Given the description of an element on the screen output the (x, y) to click on. 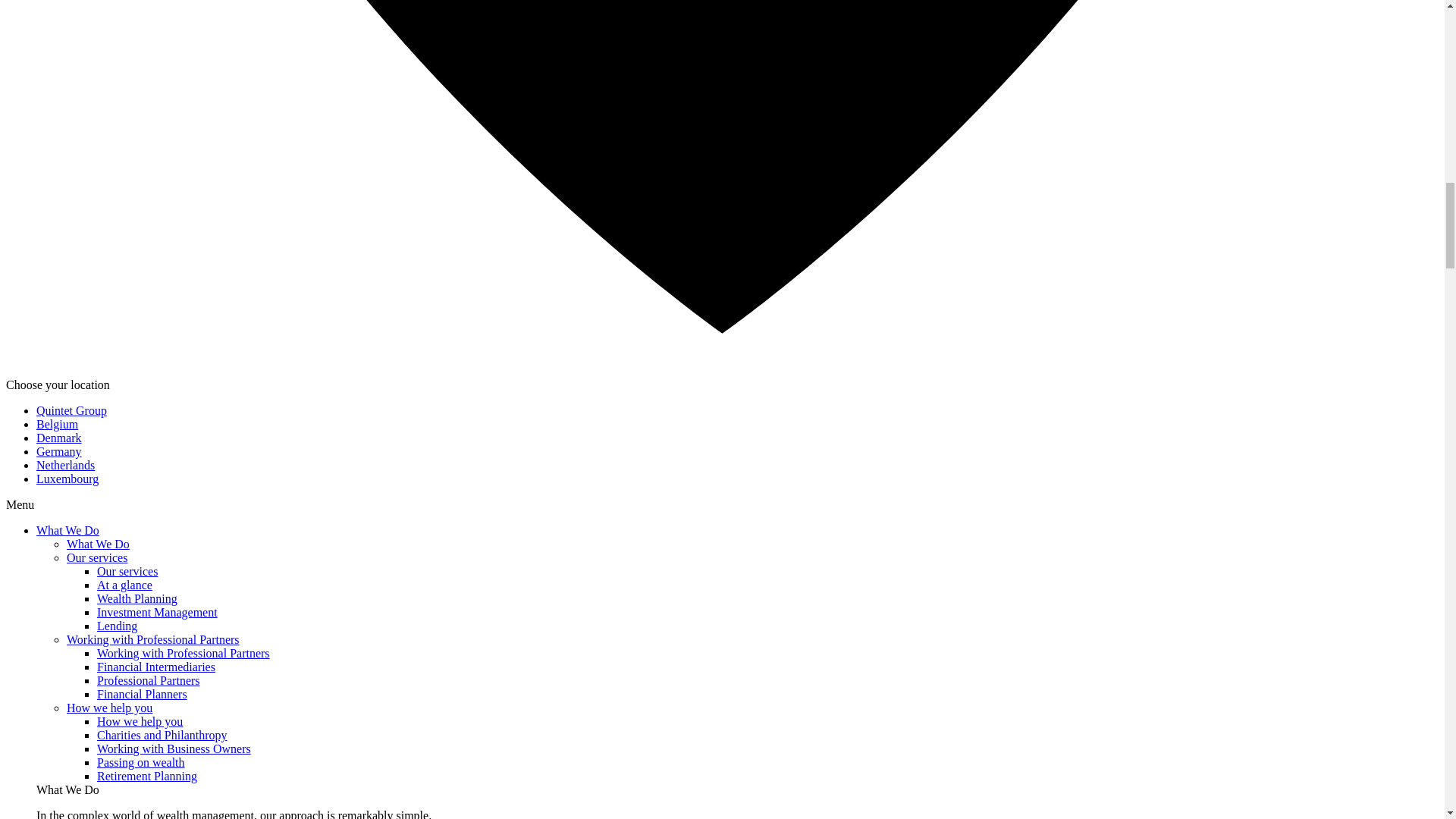
How we help you (140, 721)
Retirement Planning (146, 775)
Our services (127, 571)
Financial Intermediaries (156, 666)
Luxembourg (67, 478)
Netherlands (65, 464)
Lending (116, 625)
Quintet Group (71, 410)
At a glance (124, 584)
Working with Professional Partners (153, 639)
Denmark (58, 437)
How we help you (109, 707)
What We Do (67, 530)
Investment Management (156, 612)
Working with Business Owners (173, 748)
